Given the description of an element on the screen output the (x, y) to click on. 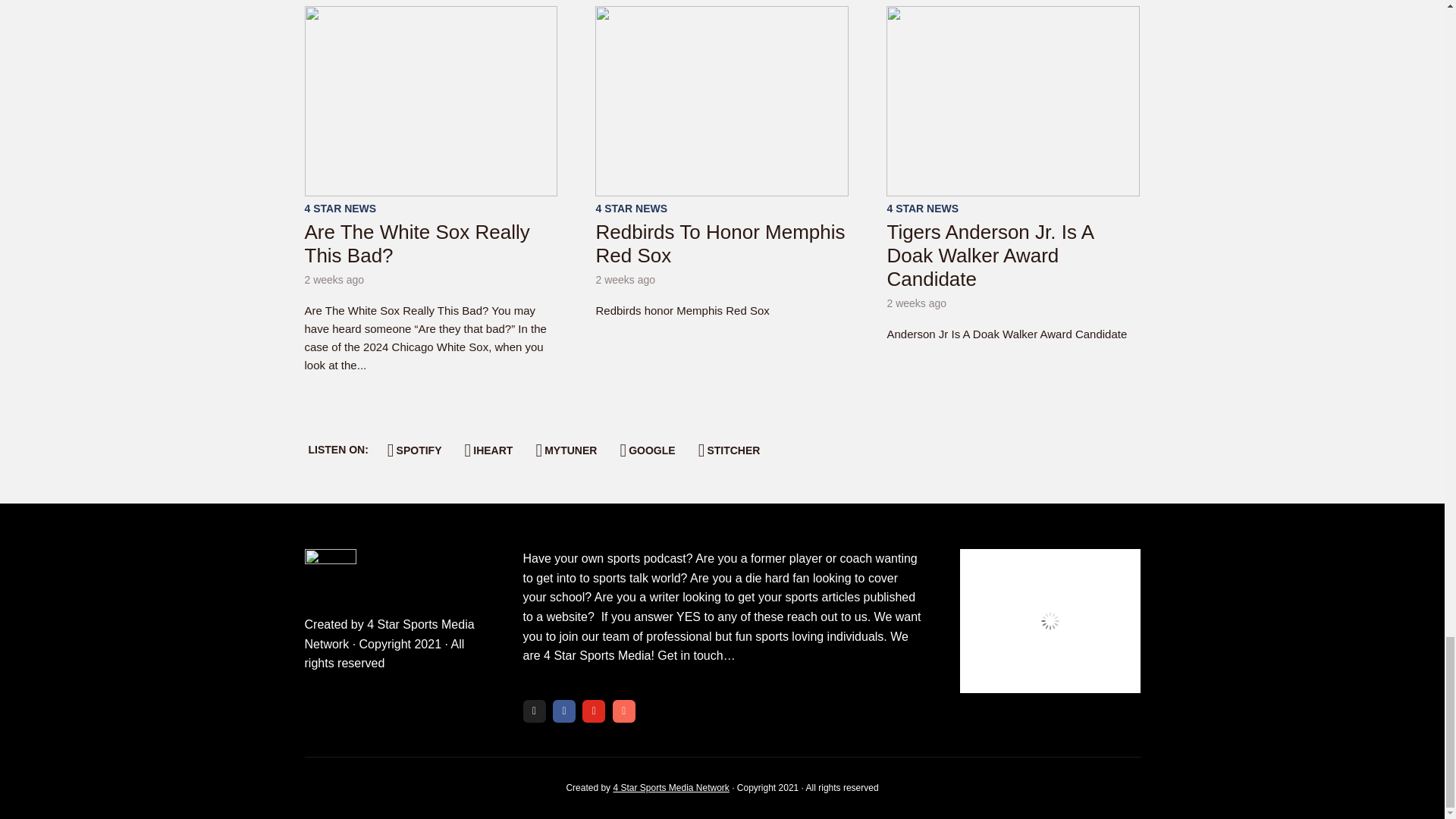
Patreon (623, 711)
YouTube (593, 711)
Facebook (564, 711)
